Given the description of an element on the screen output the (x, y) to click on. 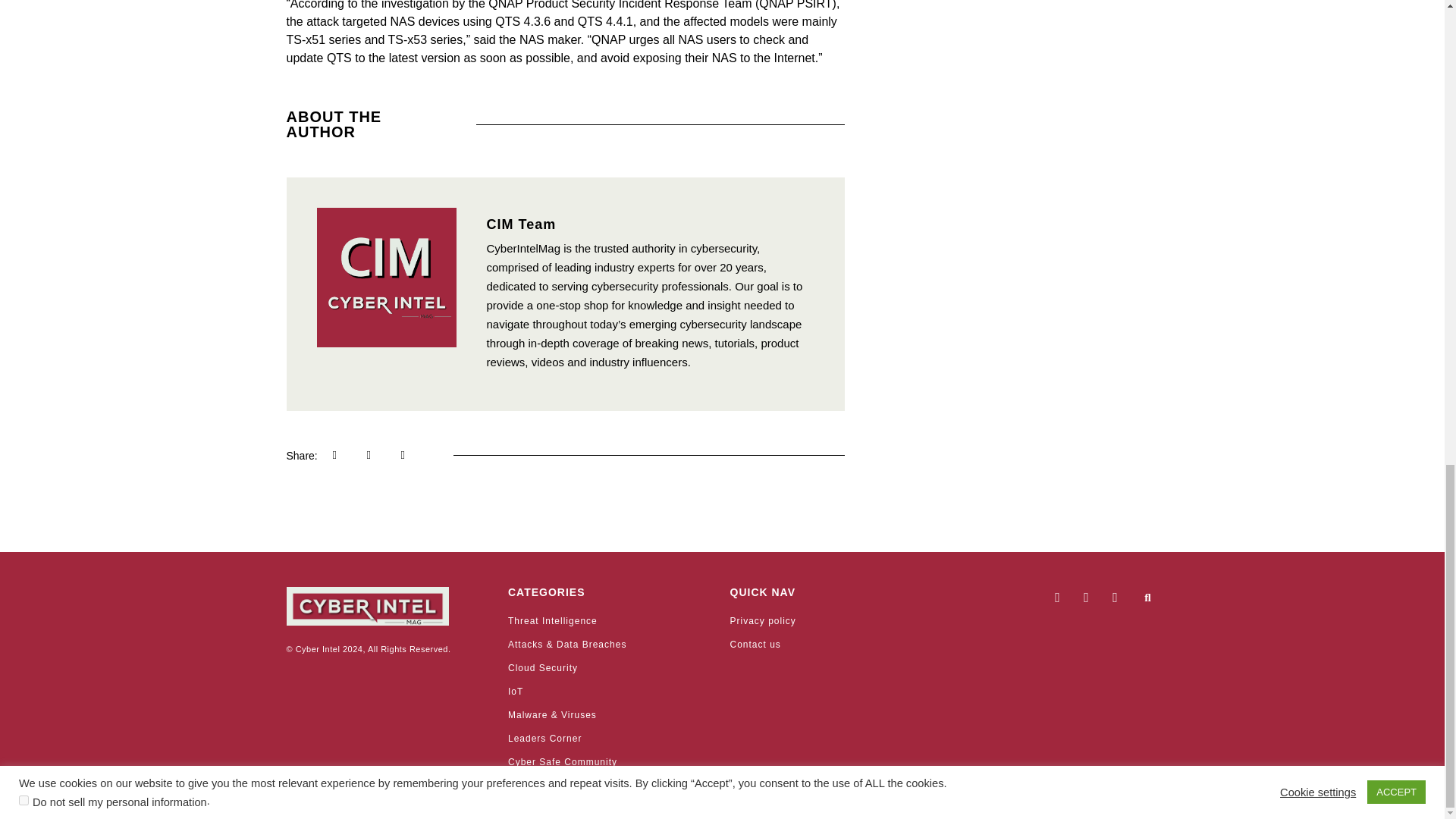
IoT (611, 691)
Cloud Security (611, 667)
Threat Intelligence (611, 620)
Leaders Corner (611, 738)
